Given the description of an element on the screen output the (x, y) to click on. 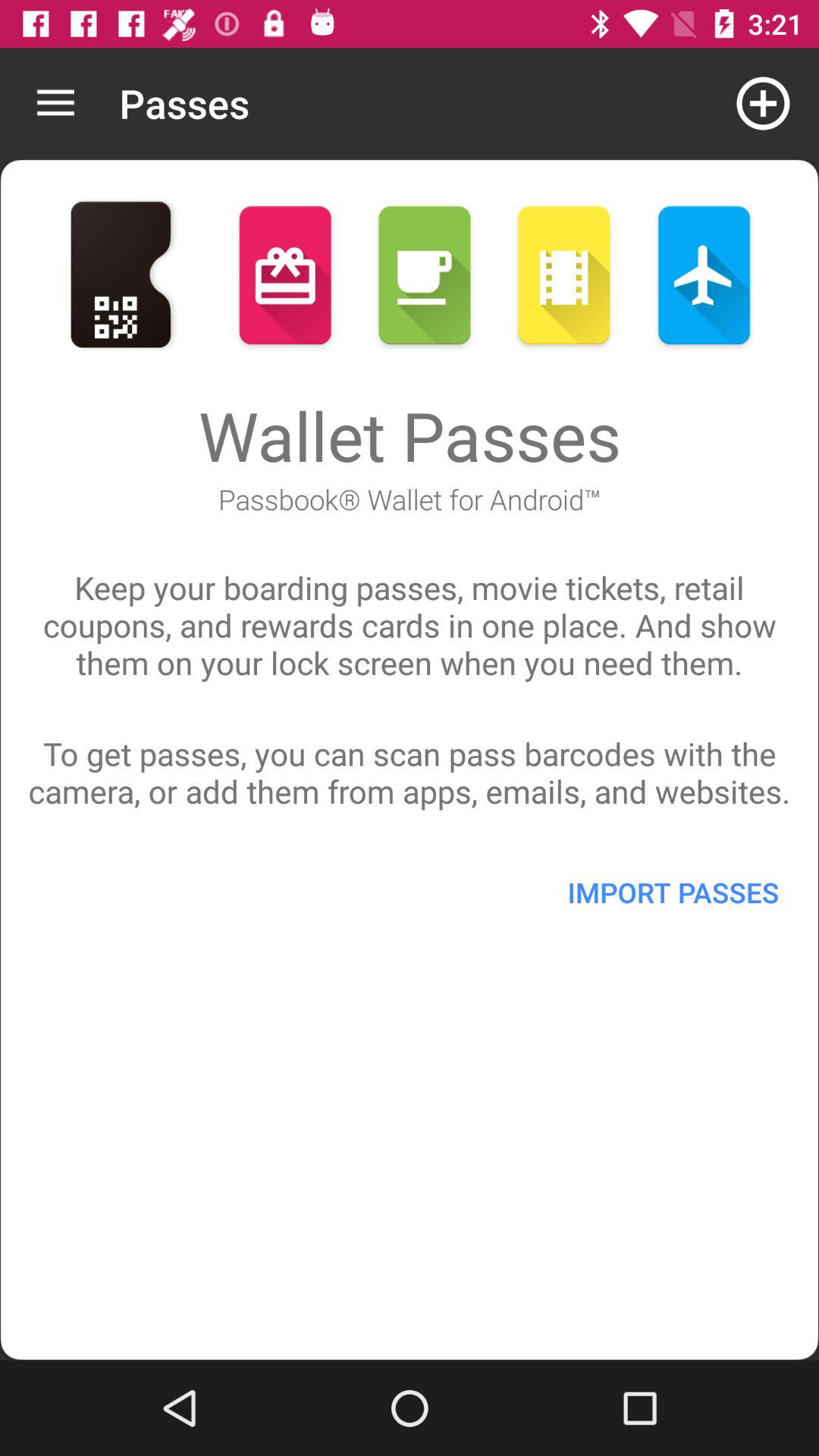
press item next to passes app (55, 103)
